Given the description of an element on the screen output the (x, y) to click on. 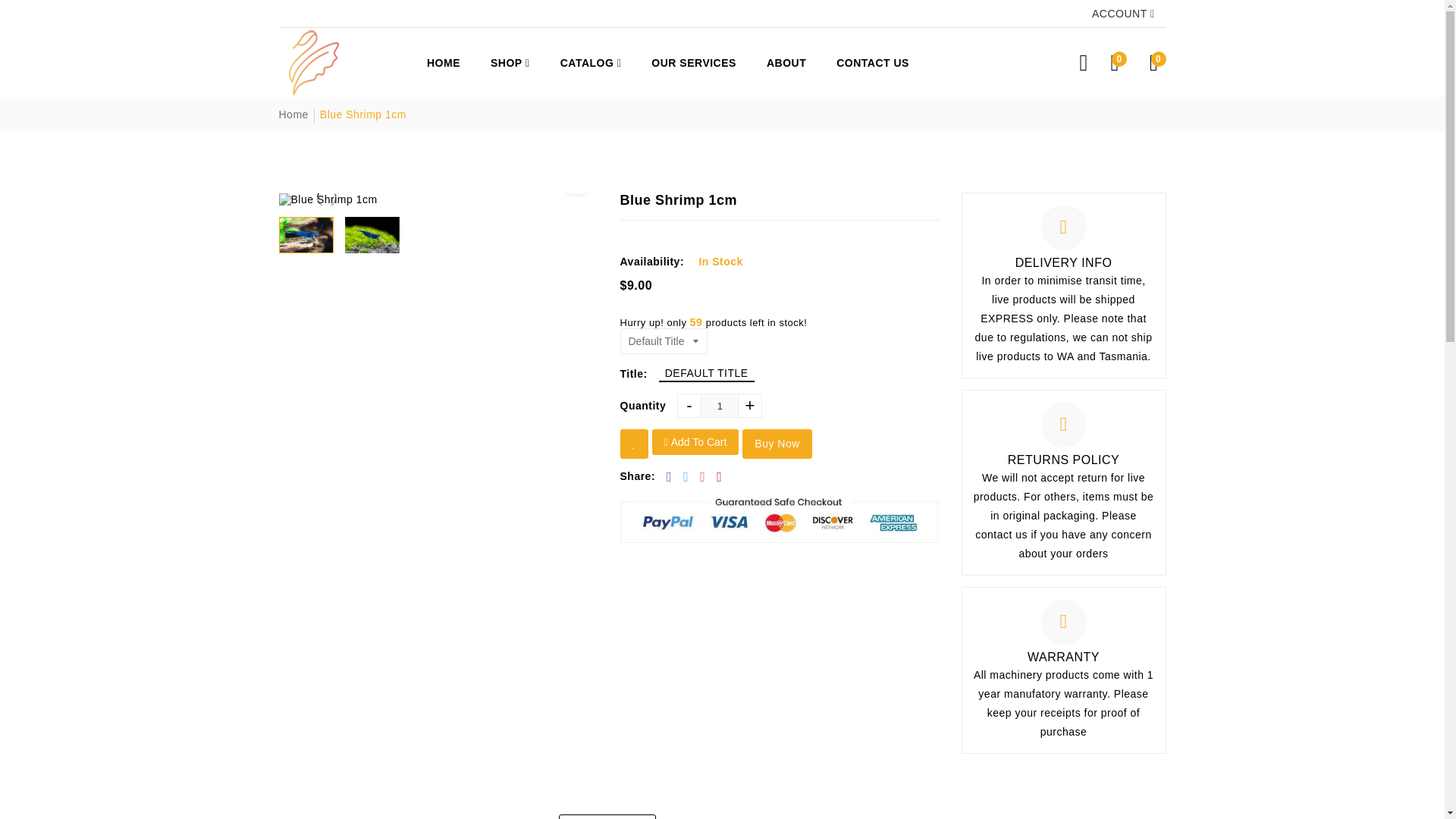
OUR SERVICES (693, 61)
ACCOUNT (1123, 13)
Back to the home page (293, 114)
SHOP (510, 61)
wishlist (633, 443)
HOME (444, 61)
CATALOG (590, 61)
ABOUT (786, 61)
1 (719, 404)
CONTACT US (872, 61)
